Given the description of an element on the screen output the (x, y) to click on. 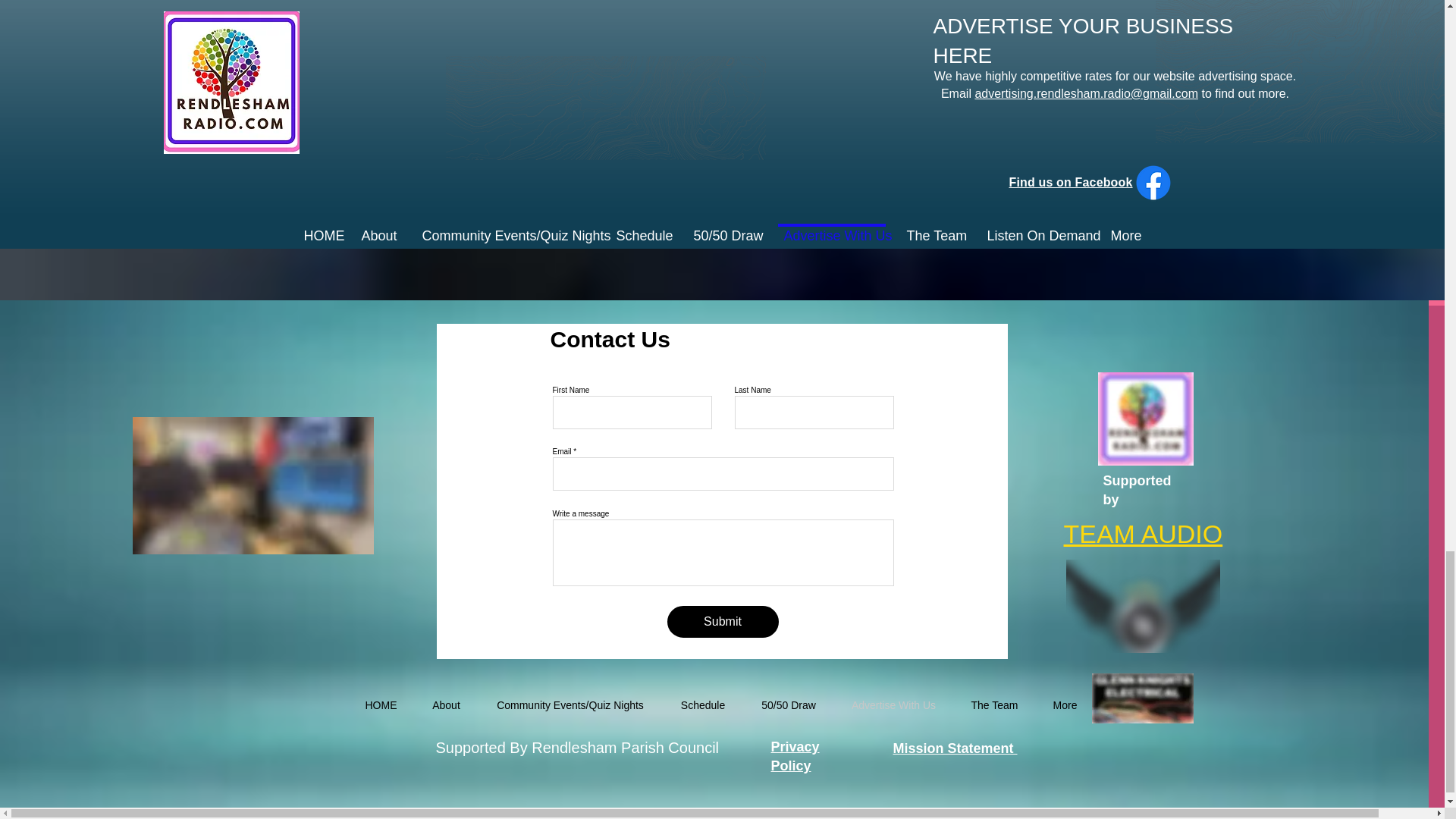
stat3.JPG (657, 139)
Schedule (703, 704)
stat1.JPG (780, 58)
About (445, 704)
Submit (722, 622)
TEAM AUDIO (1142, 533)
Advertise With Us (893, 704)
Mission Statement  (955, 748)
HOME (380, 704)
The Team (994, 704)
Privacy Policy (794, 756)
Young Model (1185, 120)
glenn1.jpg (1142, 698)
